Given the description of an element on the screen output the (x, y) to click on. 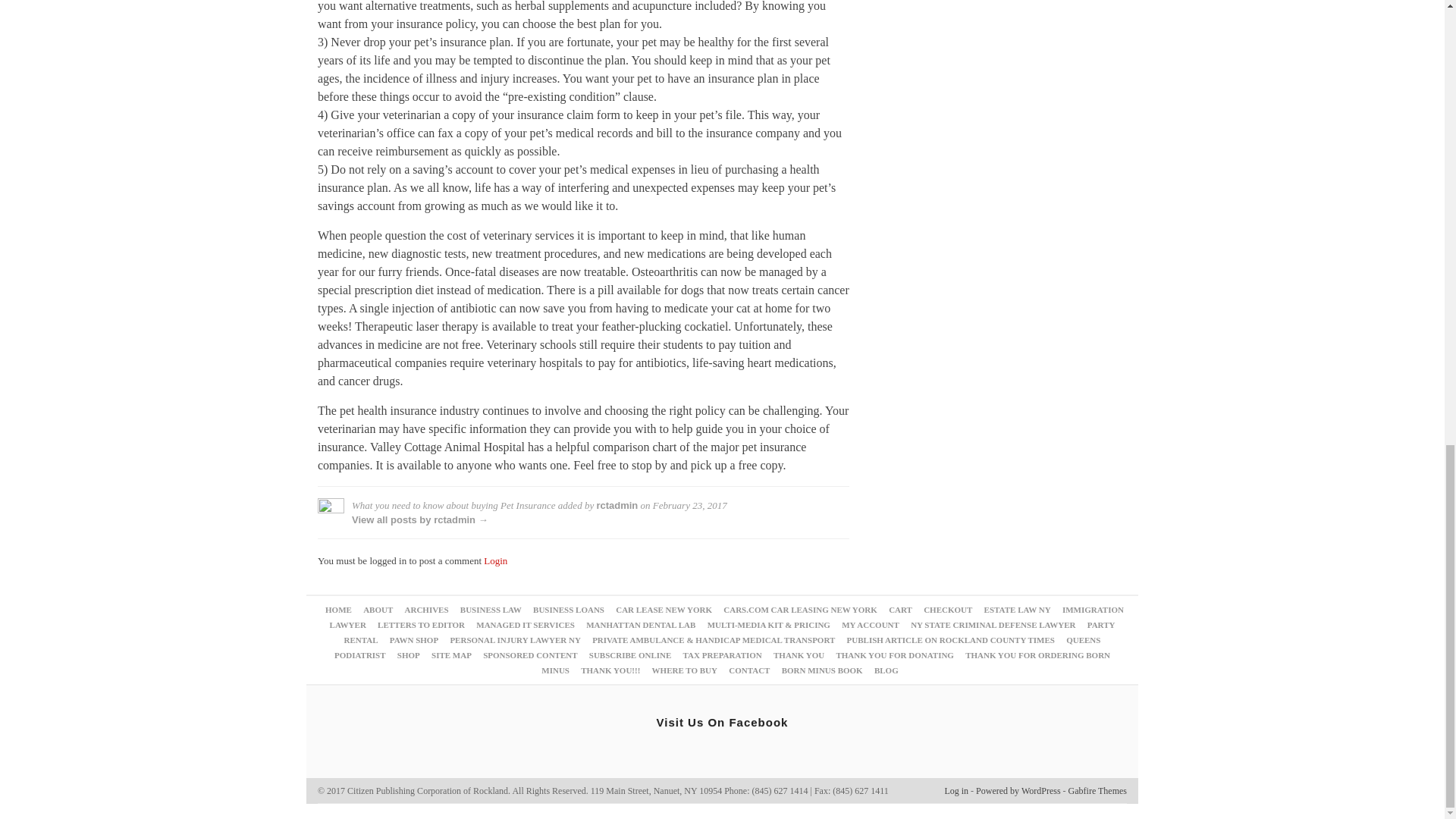
rctadmin (616, 505)
Login (494, 560)
WordPress Newspaper Themes (1097, 790)
HOME (338, 609)
Semantic Personal Publishing Platform (1017, 790)
